Given the description of an element on the screen output the (x, y) to click on. 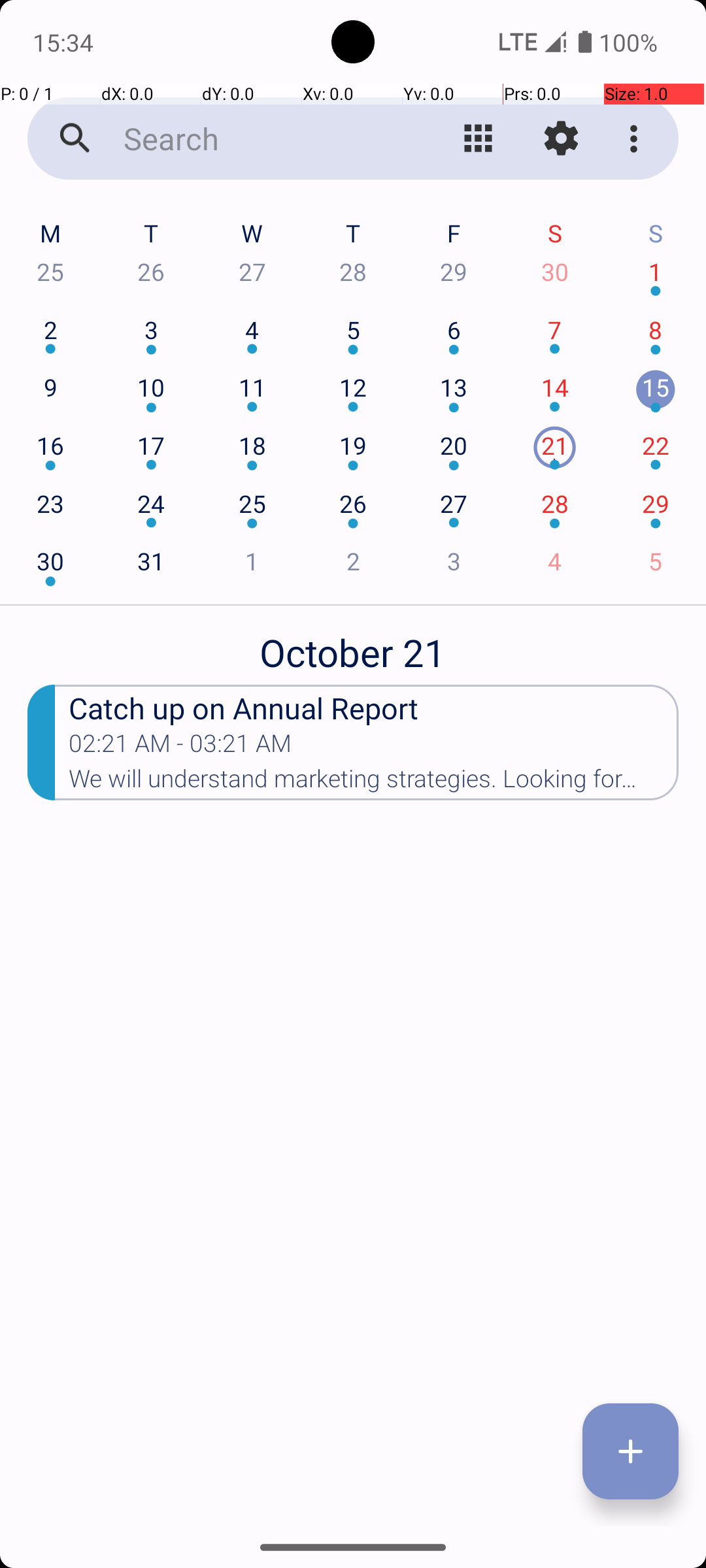
October 21 Element type: android.widget.TextView (352, 644)
02:21 AM - 03:21 AM Element type: android.widget.TextView (179, 747)
We will understand marketing strategies. Looking forward to productive discussions. Element type: android.widget.TextView (373, 782)
